Given the description of an element on the screen output the (x, y) to click on. 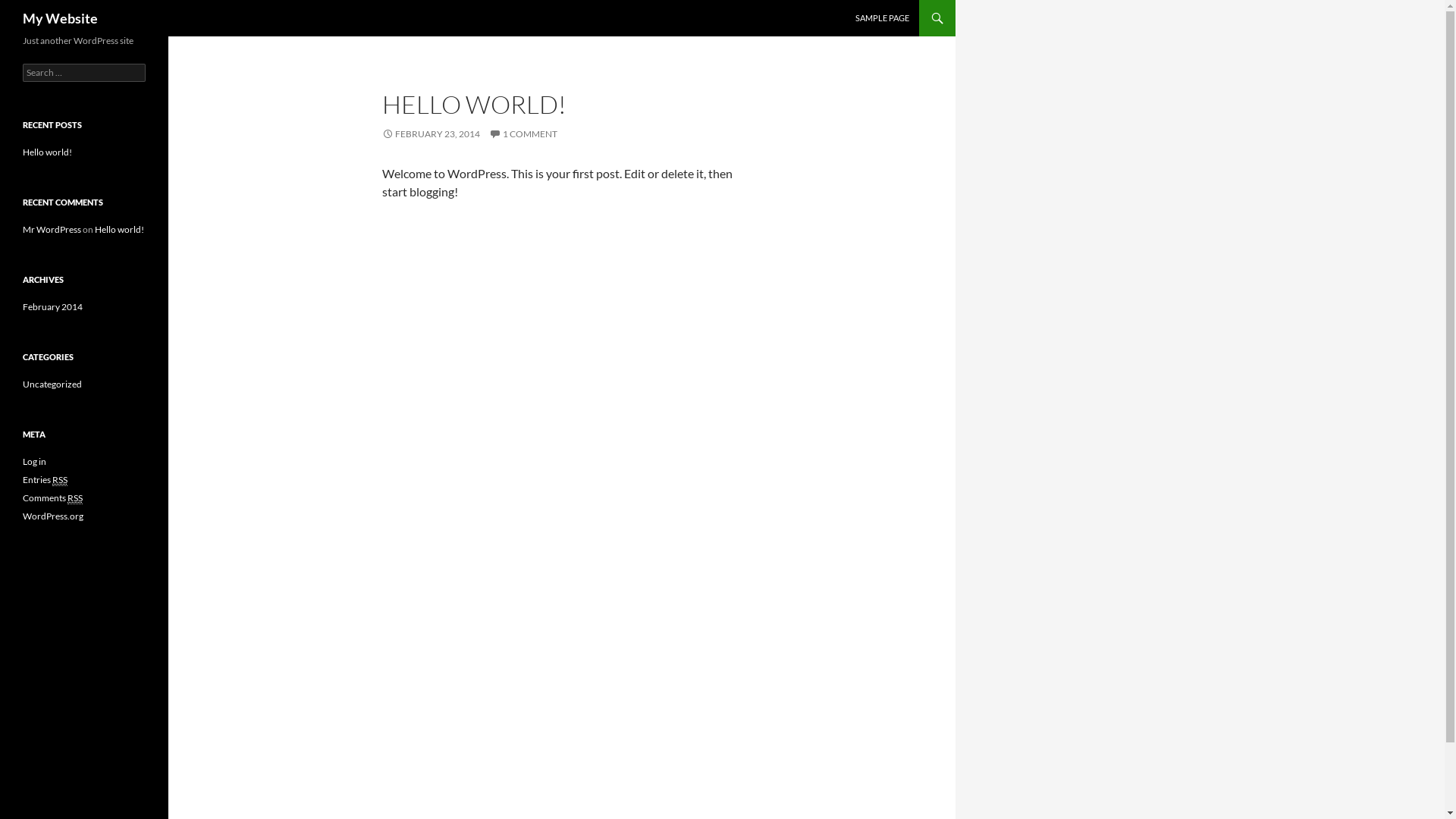
SAMPLE PAGE Element type: text (882, 18)
February 2014 Element type: text (52, 306)
Hello world! Element type: text (47, 151)
HELLO WORLD! Element type: text (474, 103)
My Website Element type: text (59, 17)
Comments RSS Element type: text (52, 498)
1 COMMENT Element type: text (523, 133)
Entries RSS Element type: text (44, 479)
Hello world! Element type: text (119, 229)
FEBRUARY 23, 2014 Element type: text (431, 133)
WordPress.org Element type: text (52, 515)
Log in Element type: text (34, 461)
Search Element type: text (29, 9)
Search Element type: text (20, 9)
Mr WordPress Element type: text (51, 229)
Search for: Element type: hover (83, 72)
SKIP TO CONTENT Element type: text (890, 6)
Uncategorized Element type: text (51, 383)
